Given the description of an element on the screen output the (x, y) to click on. 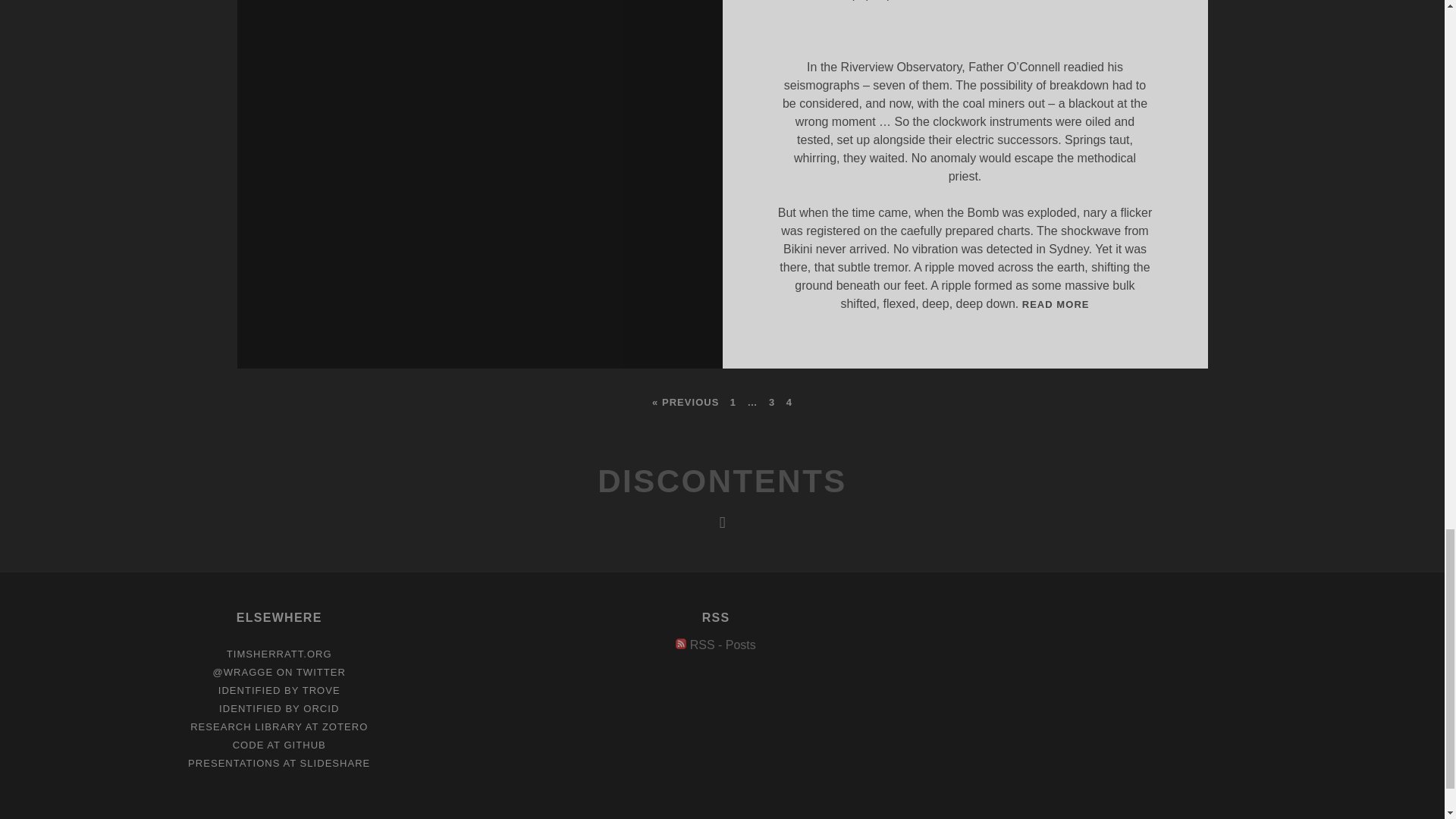
CODE (1055, 304)
RSS - Posts (248, 745)
IDENTIFIED (722, 644)
TIMSHERRATT.ORG (250, 708)
Subscribe to Posts (279, 654)
DISCONTENTS (722, 644)
RESEARCH LIBRARY (721, 480)
PRESENTATIONS (246, 726)
IDENTIFIED (233, 763)
